Given the description of an element on the screen output the (x, y) to click on. 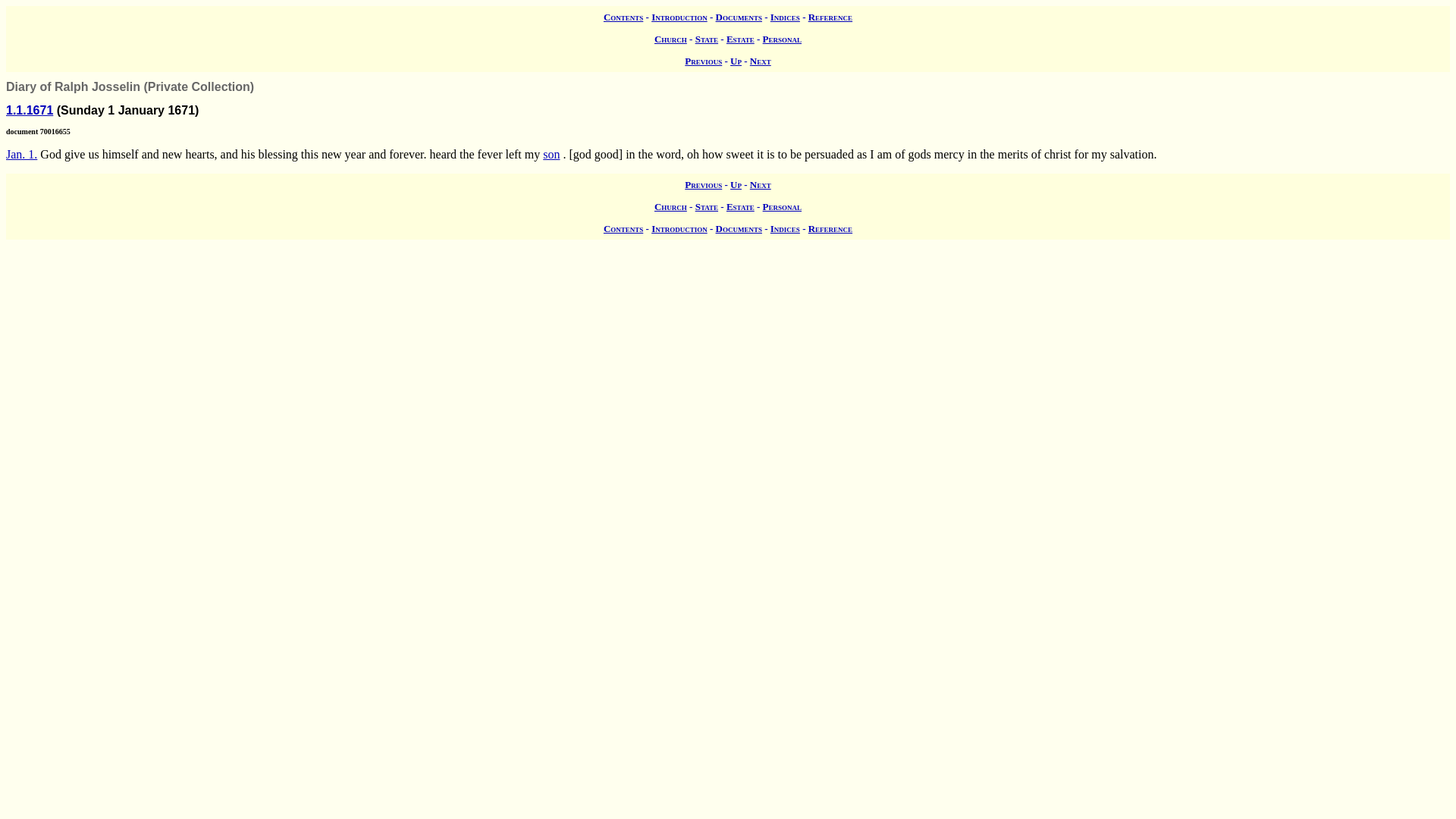
Reference (829, 16)
Personal (782, 206)
Next (760, 60)
Up (735, 184)
View the secondary sources (784, 16)
Sunday 1 January 1671 (21, 154)
View the state records (706, 206)
Next (760, 184)
Previous (703, 184)
Next record (760, 184)
